Given the description of an element on the screen output the (x, y) to click on. 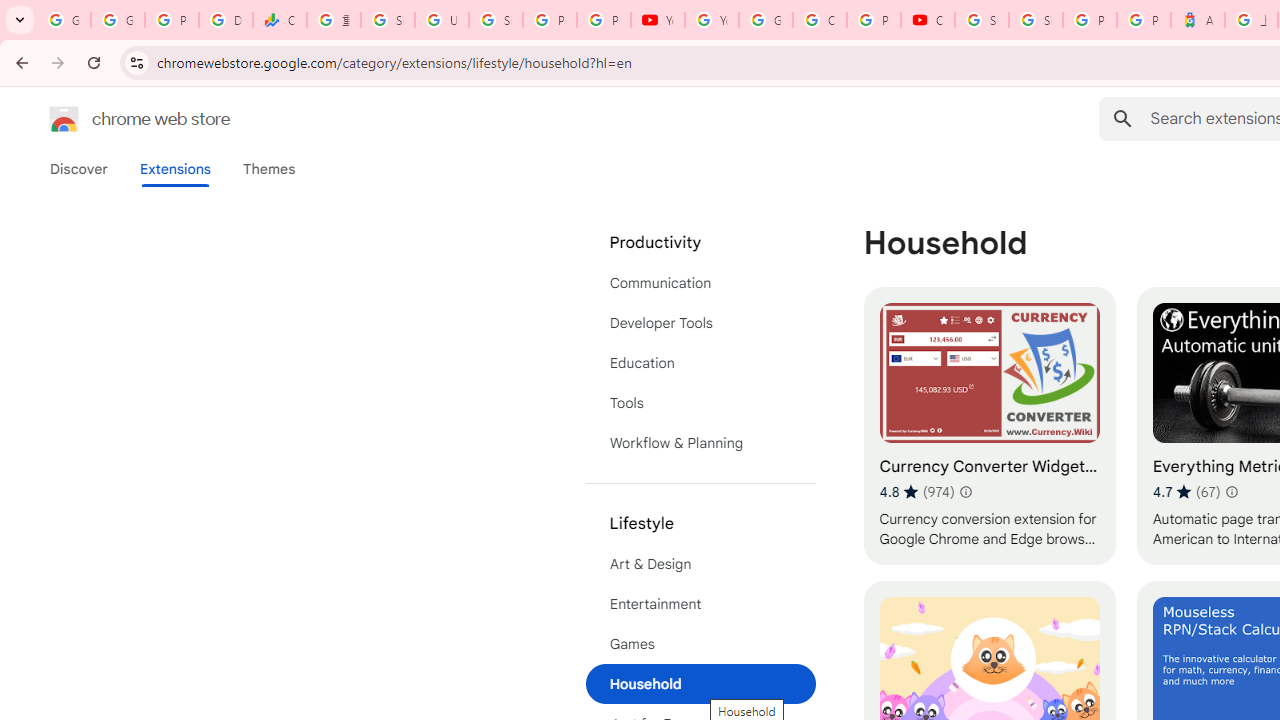
Currencies - Google Finance (280, 20)
Create your Google Account (819, 20)
Workflow & Planning (700, 442)
Sign in - Google Accounts (1035, 20)
Communication (700, 282)
Google Account Help (765, 20)
Entertainment (700, 603)
Games (700, 643)
Average rating 4.8 out of 5 stars. 974 ratings. (916, 491)
Chrome Web Store logo chrome web store (118, 118)
Discover (79, 169)
